Given the description of an element on the screen output the (x, y) to click on. 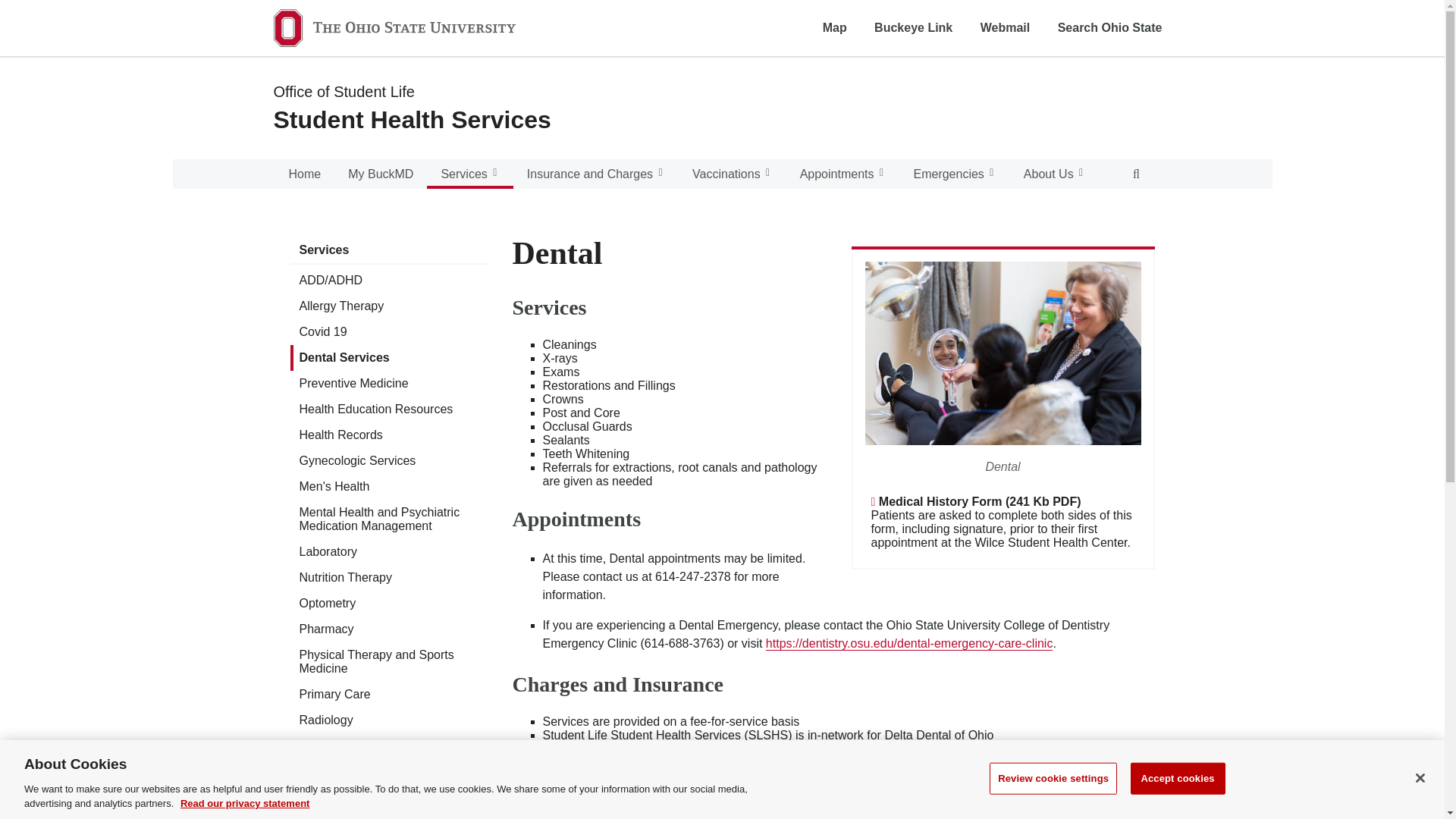
Webmail (1004, 27)
Buckeye Link (913, 27)
Map (834, 27)
My BuckMD (380, 173)
Home (304, 173)
Search Ohio State (1109, 27)
Student Health Services (411, 119)
Services (469, 173)
